Given the description of an element on the screen output the (x, y) to click on. 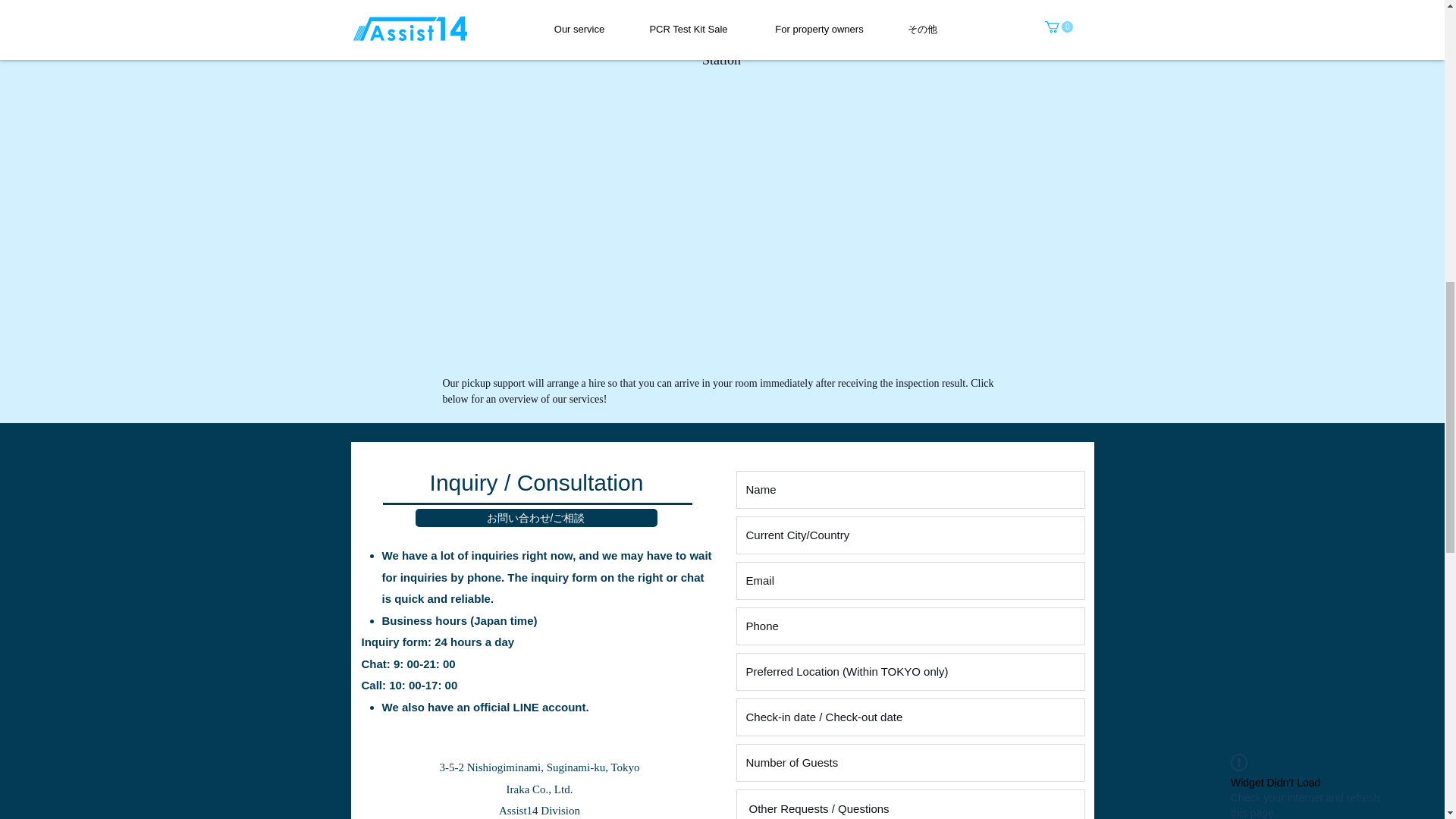
View service details (720, 485)
Facebook Like (903, 562)
